Given the description of an element on the screen output the (x, y) to click on. 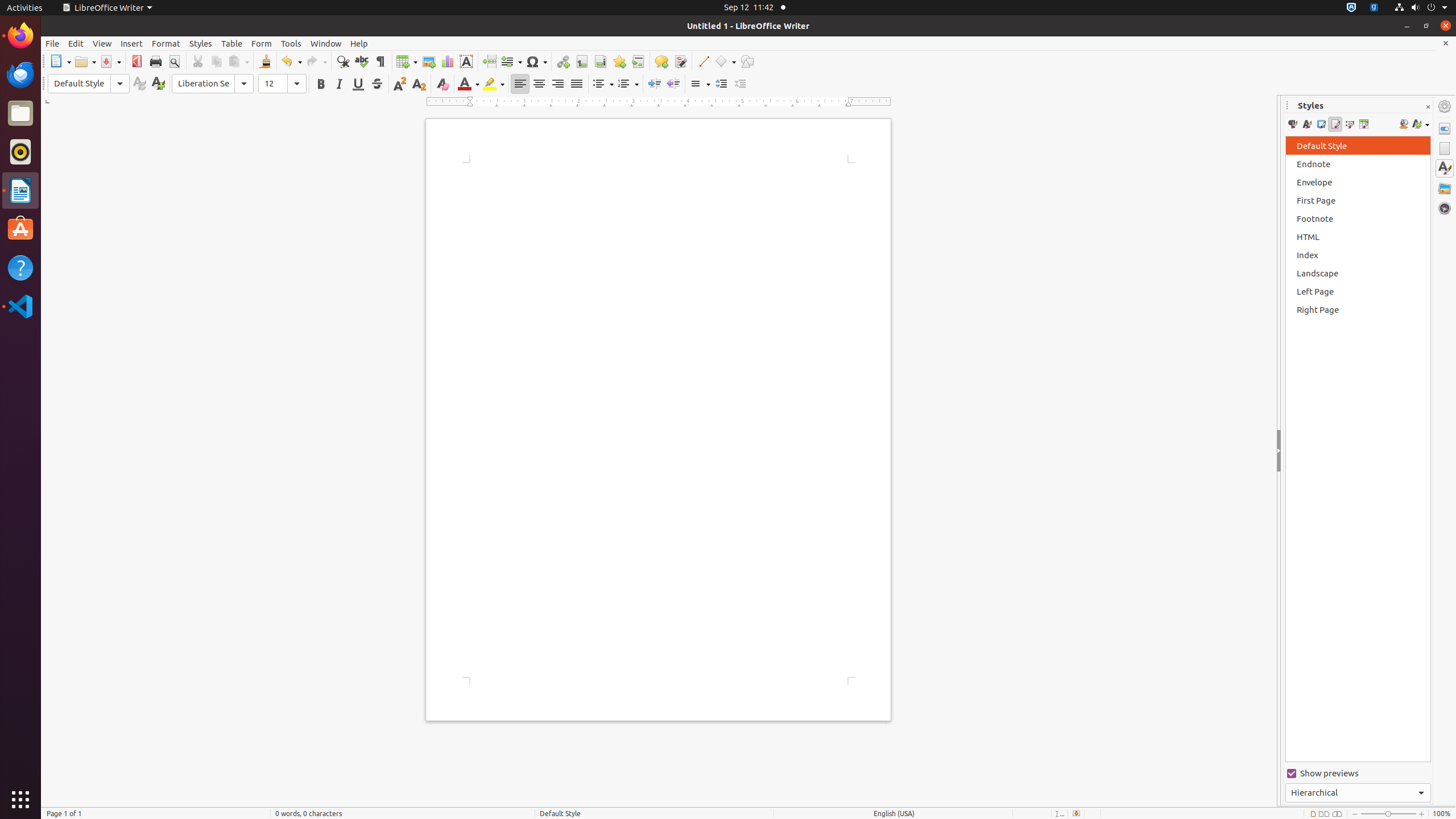
Copy Element type: push-button (216, 61)
Clone Element type: push-button (264, 61)
Superscript Element type: toggle-button (399, 83)
Ubuntu Software Element type: push-button (20, 229)
Font Size Element type: combo-box (282, 83)
